Given the description of an element on the screen output the (x, y) to click on. 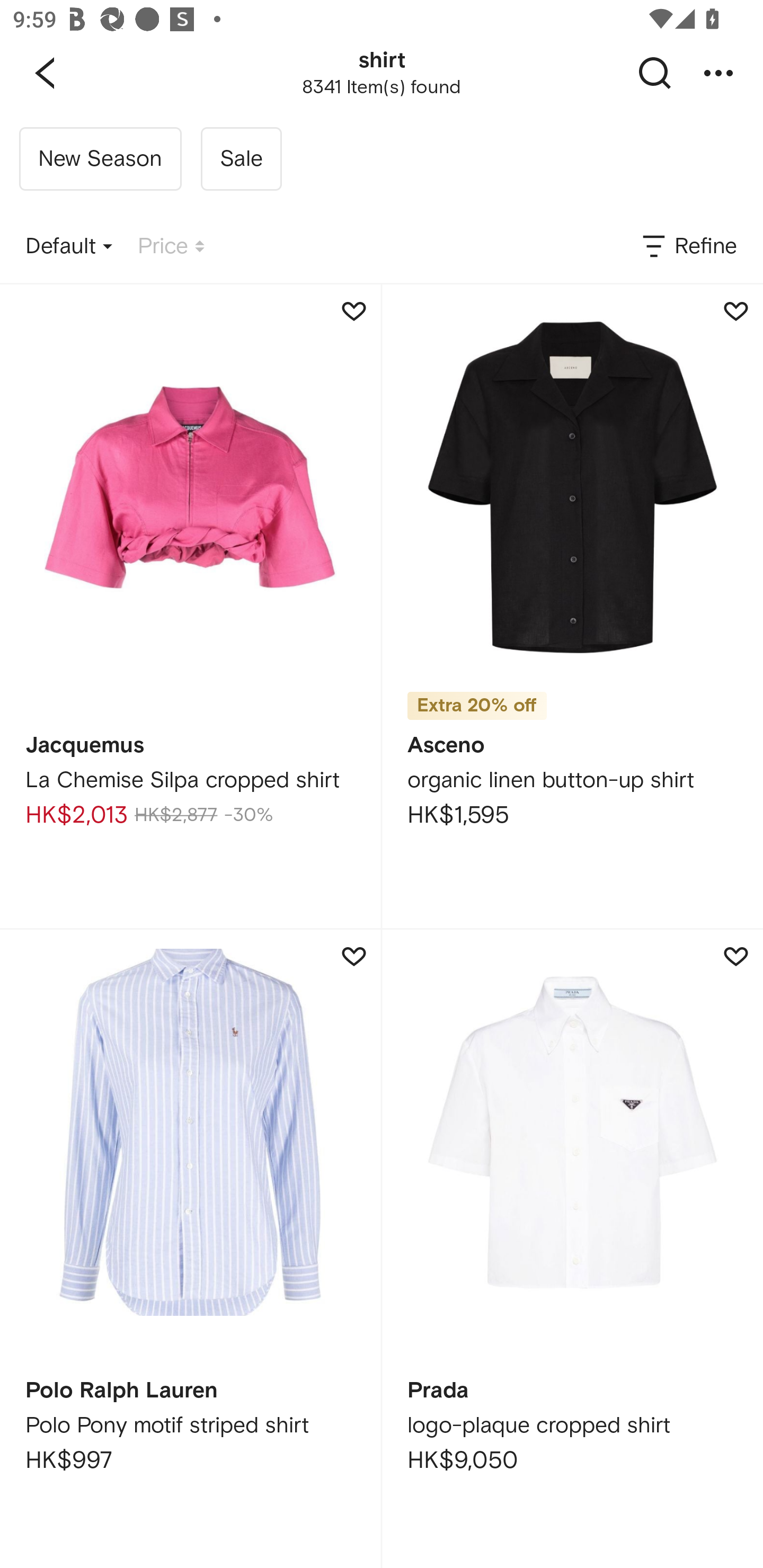
New Season (100, 158)
Sale (240, 158)
Default (68, 246)
Price (171, 246)
Refine (688, 246)
Extra 20% off (477, 705)
Prada logo-plaque cropped shirt HK$9,050 (572, 1248)
